Given the description of an element on the screen output the (x, y) to click on. 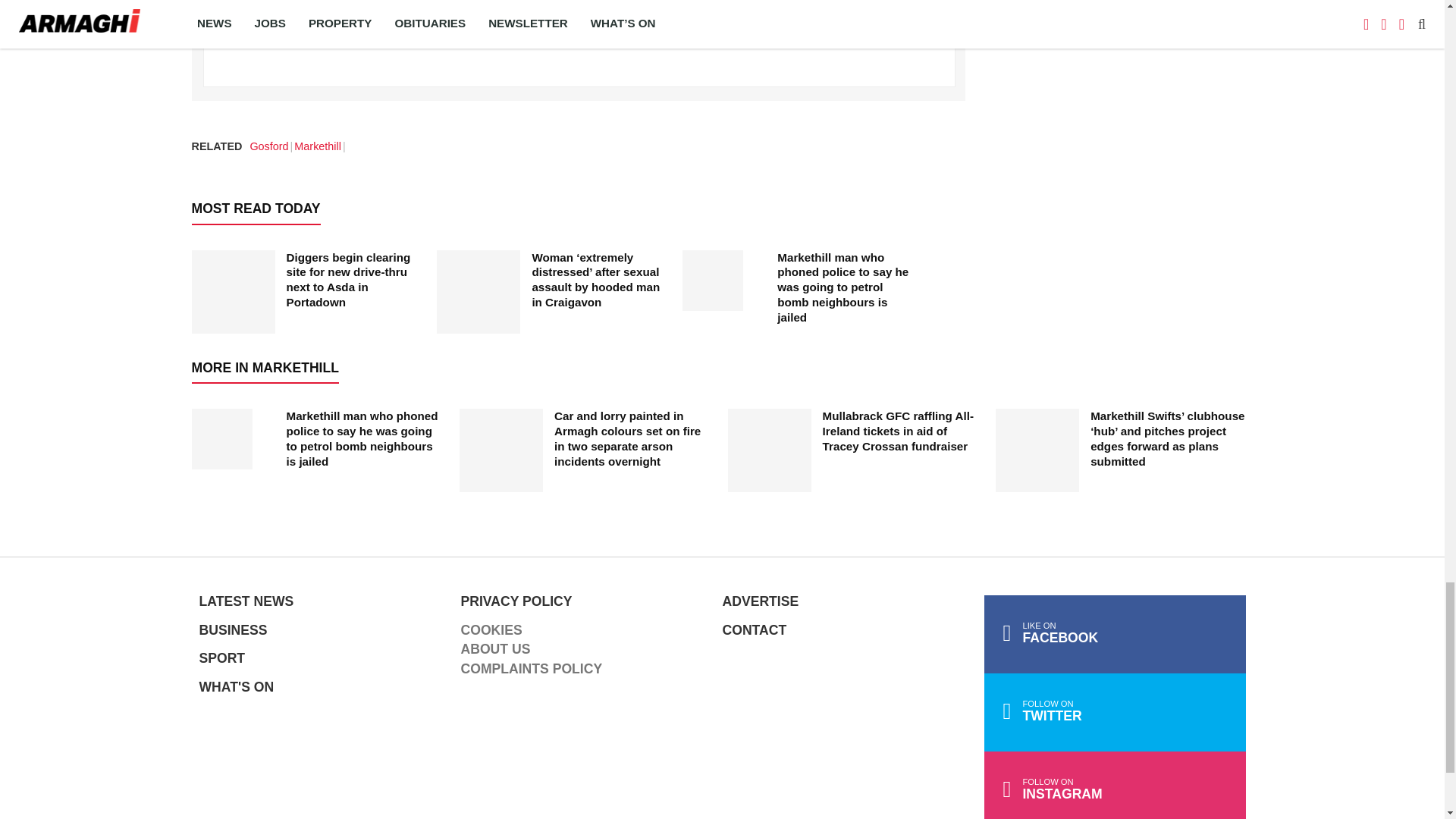
Twitter (1115, 712)
Facebook (1115, 634)
Instagram (1115, 785)
